Given the description of an element on the screen output the (x, y) to click on. 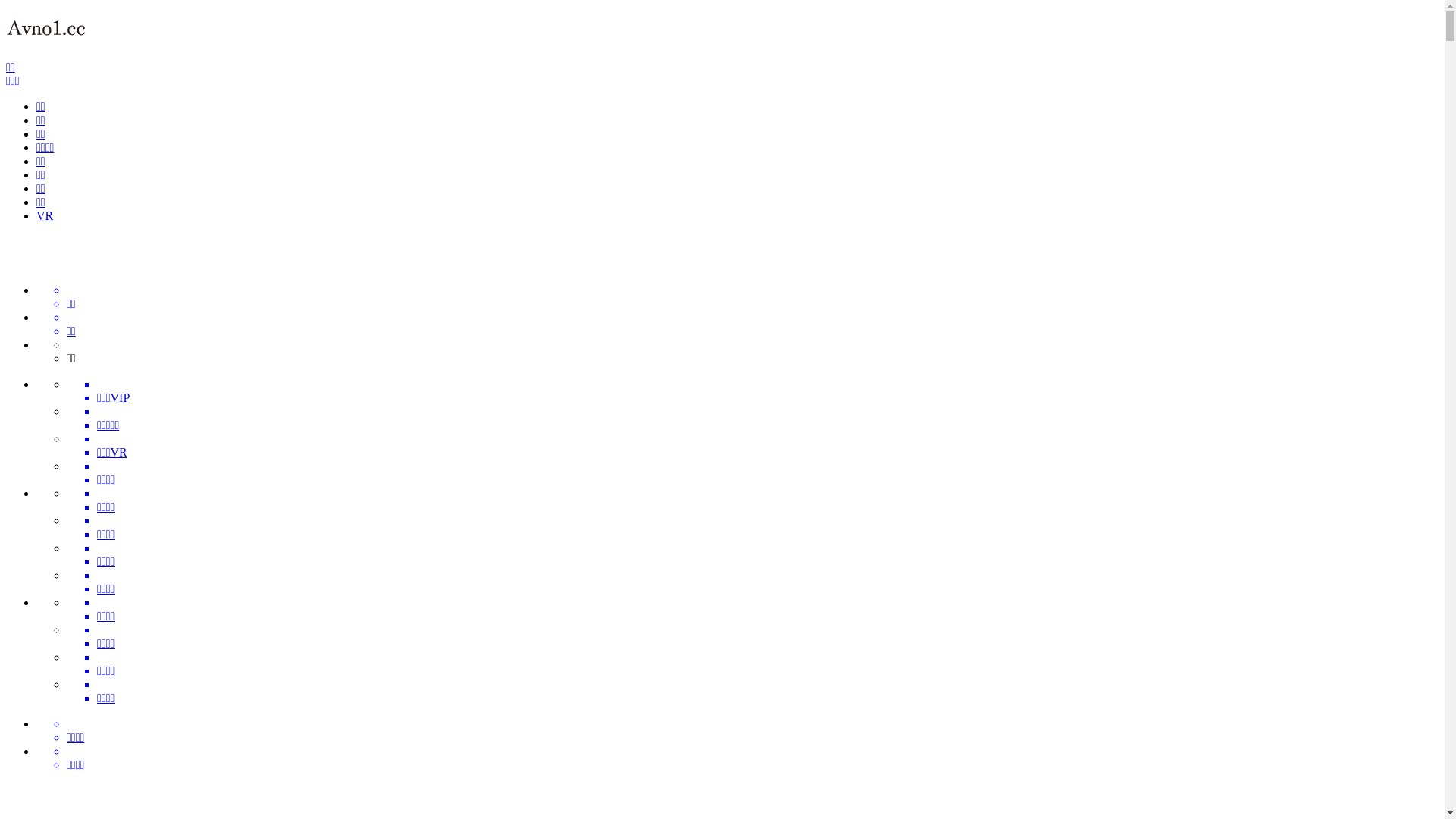
VR Element type: text (44, 215)
